Given the description of an element on the screen output the (x, y) to click on. 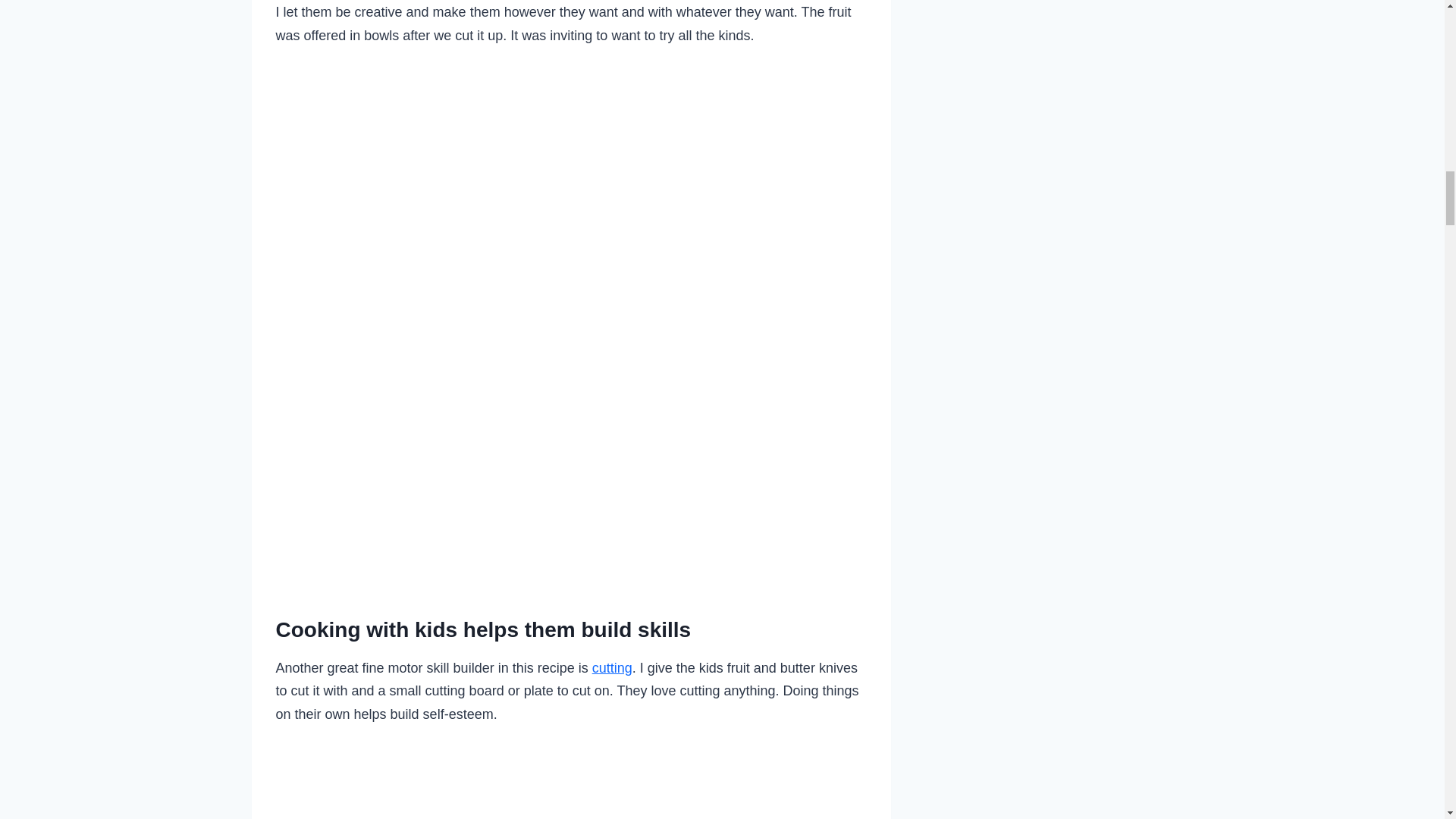
cutting (611, 667)
